Given the description of an element on the screen output the (x, y) to click on. 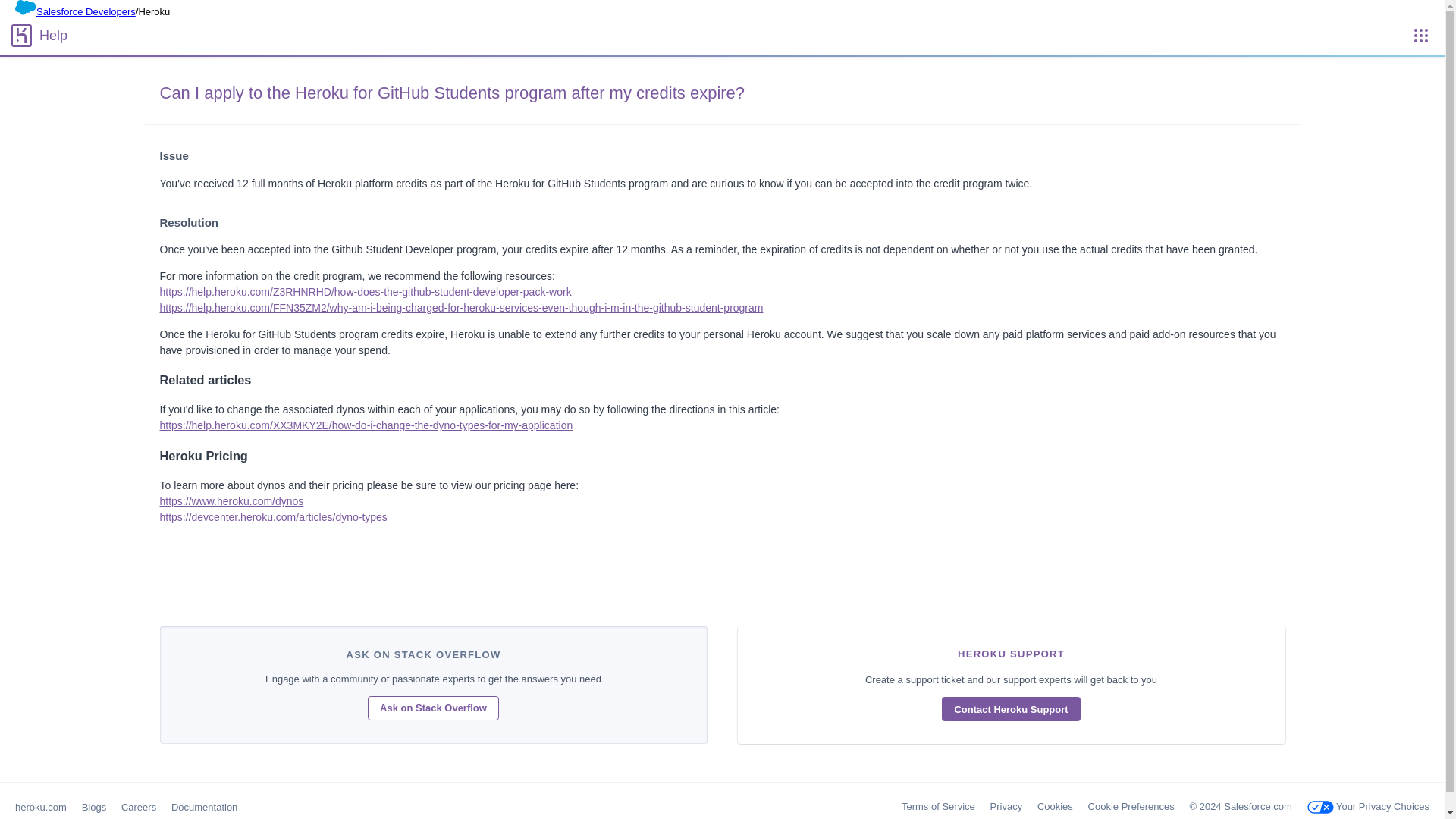
Documentation (204, 807)
Cookies (1054, 806)
Ask on Stack Overflow (433, 708)
Careers (137, 807)
Cookie Preferences (1130, 806)
Contact Heroku Support (1011, 708)
Terms of Service (938, 806)
heroku.com (40, 807)
Blogs (93, 807)
Privacy (1006, 806)
